Given the description of an element on the screen output the (x, y) to click on. 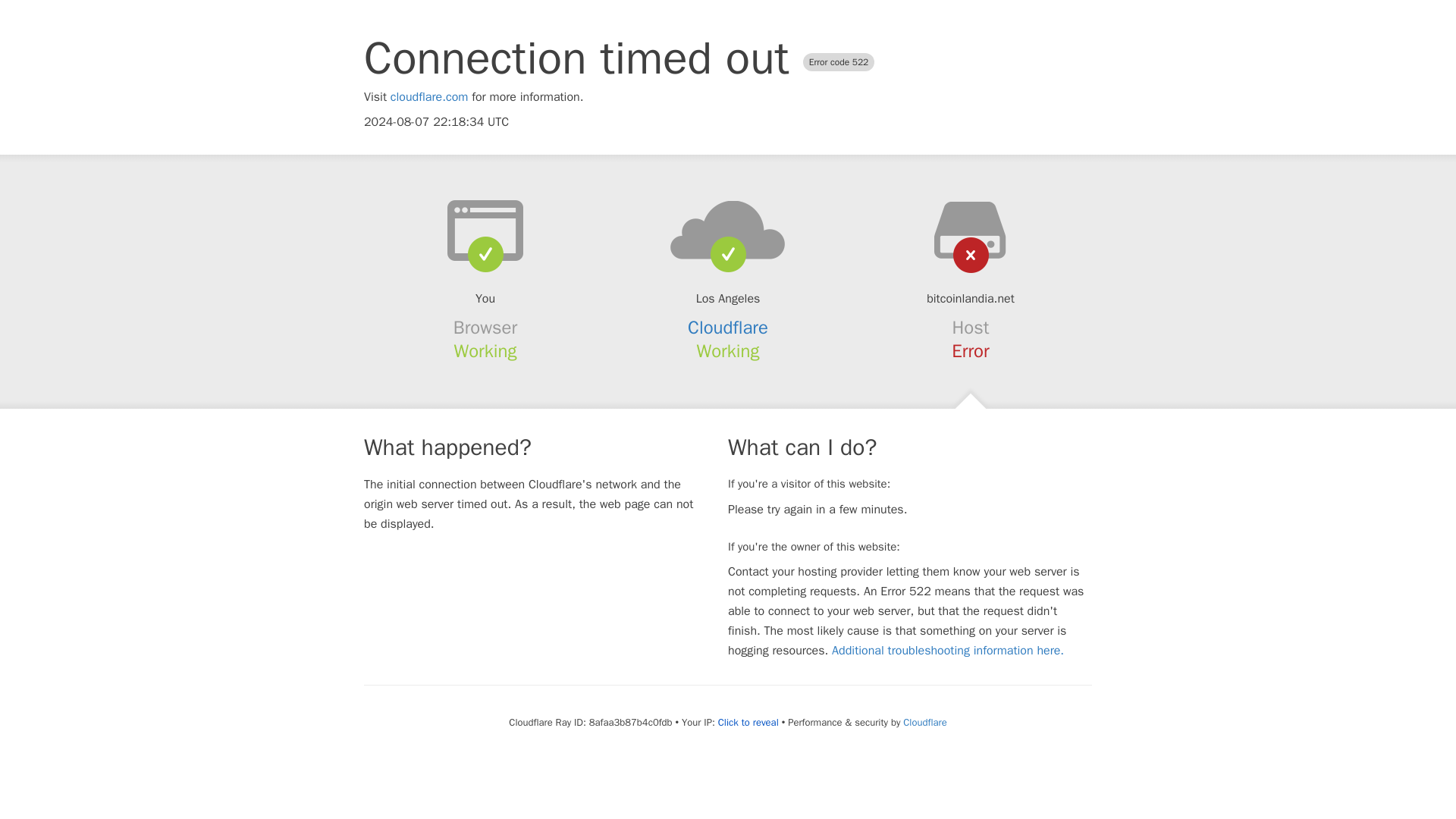
cloudflare.com (429, 96)
Cloudflare (924, 721)
Click to reveal (747, 722)
Cloudflare (727, 327)
Additional troubleshooting information here. (947, 650)
